Given the description of an element on the screen output the (x, y) to click on. 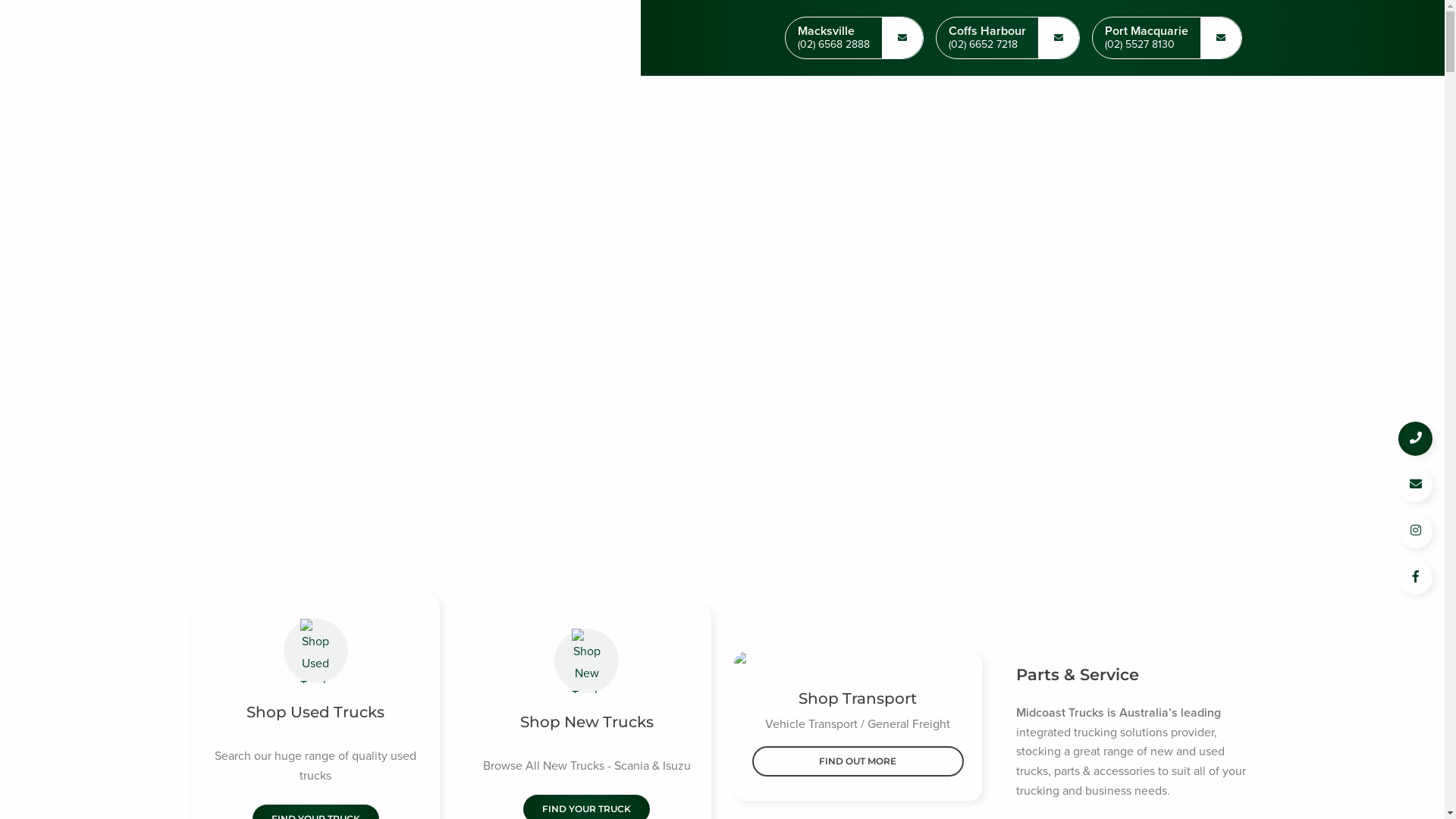
(02) 6568 2888 Element type: text (833, 44)
Fab/Cranes/Bodies/Machinery Element type: text (695, 101)
(02) 6652 7218 Element type: text (986, 44)
Materials Handling Element type: text (528, 101)
Parts & Service Element type: text (973, 101)
(02) 5527 8130 Element type: text (1145, 44)
FIND OUT MORE Element type: text (858, 761)
Transport Element type: text (1072, 101)
About Element type: text (1149, 101)
Midcoast Trucks Element type: text (285, 37)
New Trucks Element type: text (405, 101)
Used Trucks Element type: text (297, 101)
Finance/Insurance Element type: text (852, 101)
